Given the description of an element on the screen output the (x, y) to click on. 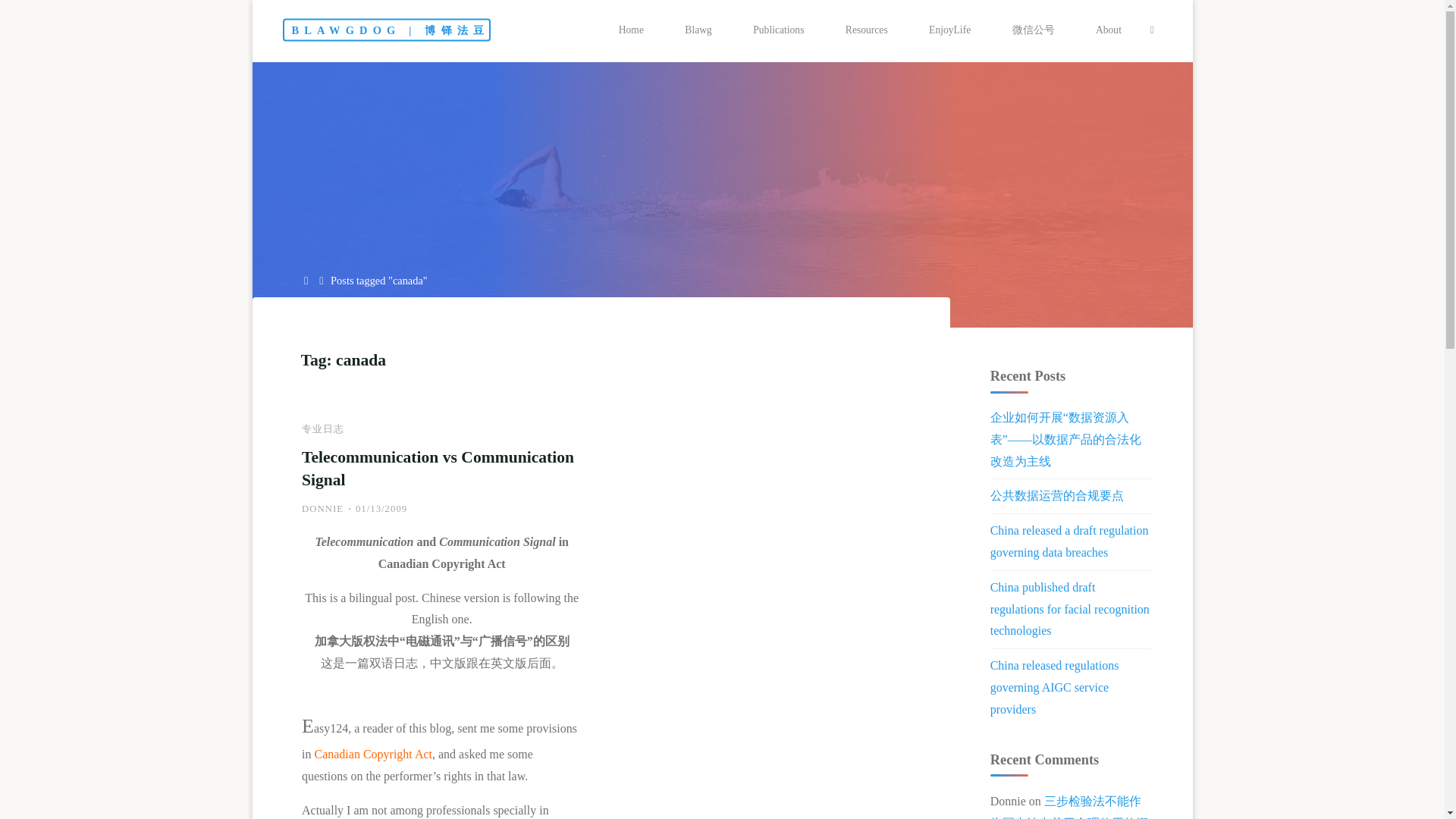
Blawg (697, 30)
Home (306, 280)
EnjoyLife (949, 30)
Publications (778, 30)
DONNIE (322, 508)
Canadian Copyright Act (373, 753)
View all posts by Donnie (322, 508)
Resources (866, 30)
About (1108, 30)
Home (631, 30)
